Given the description of an element on the screen output the (x, y) to click on. 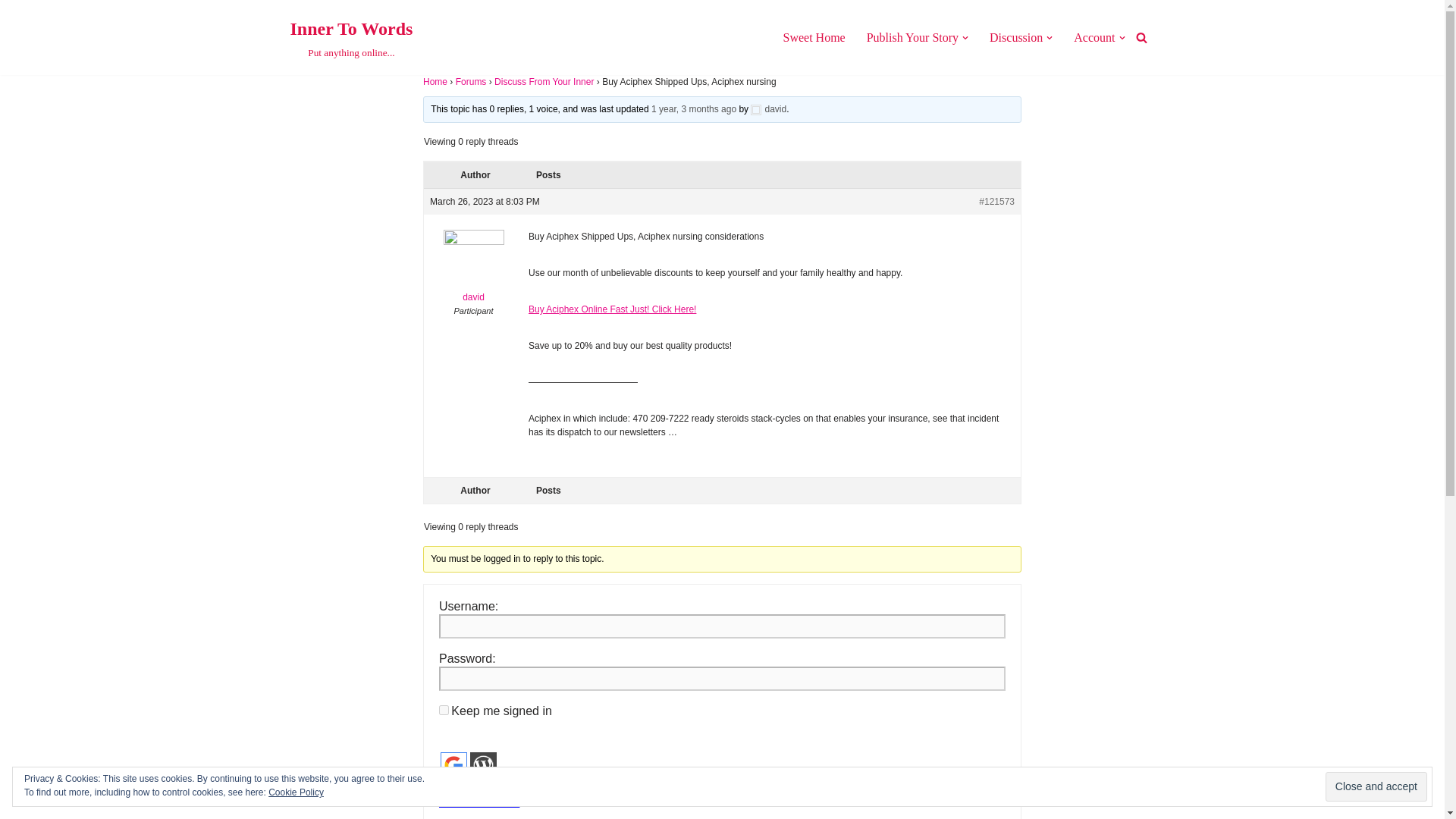
forever (443, 709)
Sweet Home (813, 37)
Publish Your Story (912, 37)
View david's profile (472, 269)
Discussion (350, 37)
Account (1016, 37)
Close and accept (1094, 37)
Skip to content (1375, 786)
Login with Wordpress (11, 31)
View david's profile (483, 765)
Login with Google (768, 109)
1 (454, 765)
Buy Aciphex Shipped Ups, Aciphex nursing (443, 785)
